Given the description of an element on the screen output the (x, y) to click on. 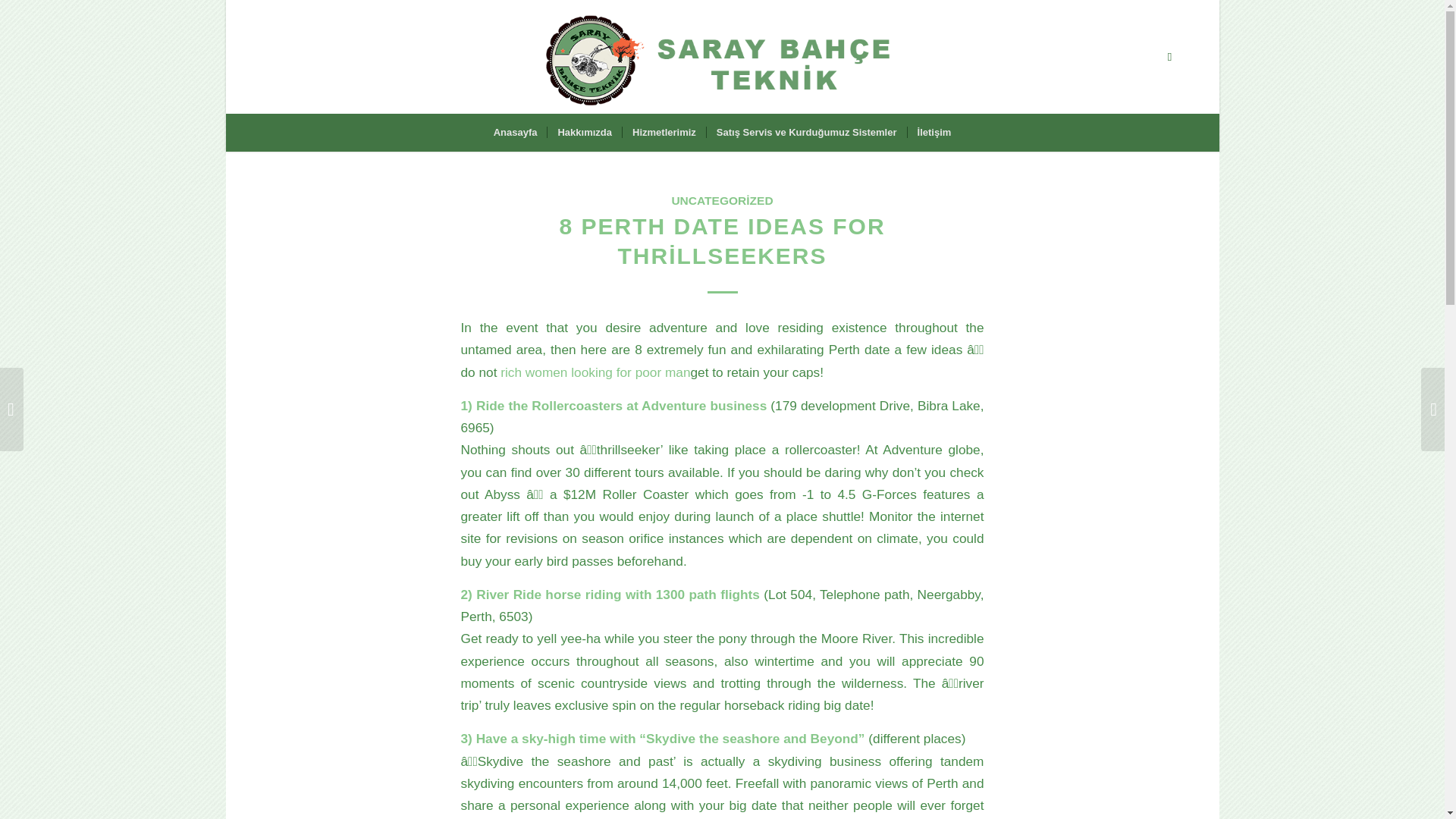
UNCATEGORIZED (722, 200)
Anasayfa (515, 132)
rich women looking for poor man (595, 372)
Hizmetlerimiz (663, 132)
